Given the description of an element on the screen output the (x, y) to click on. 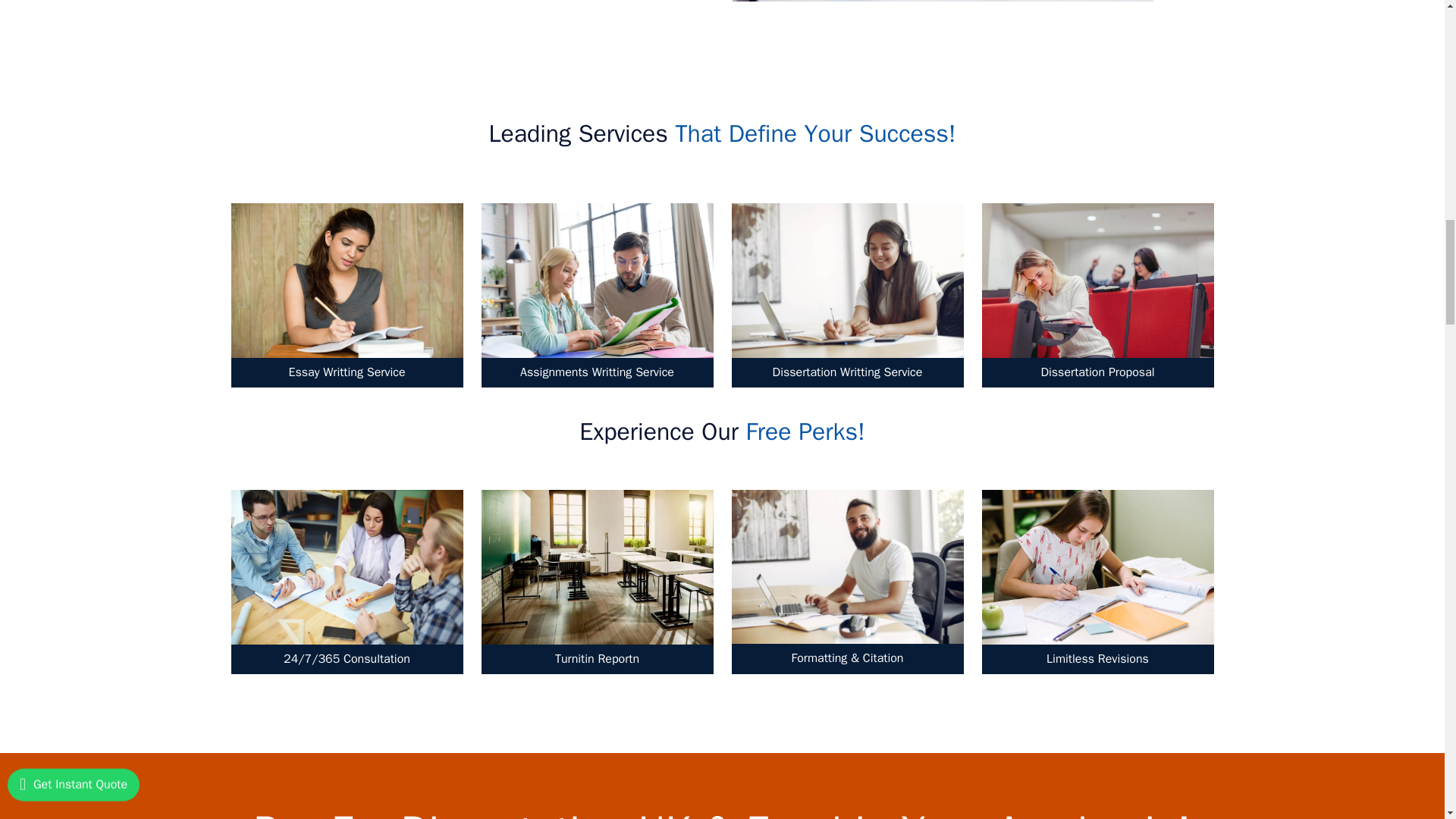
Dissertation Writting Service (846, 298)
Dissertation Proposal (1096, 298)
Essay Writting Service (346, 298)
Assignments Writting Service (596, 298)
